Given the description of an element on the screen output the (x, y) to click on. 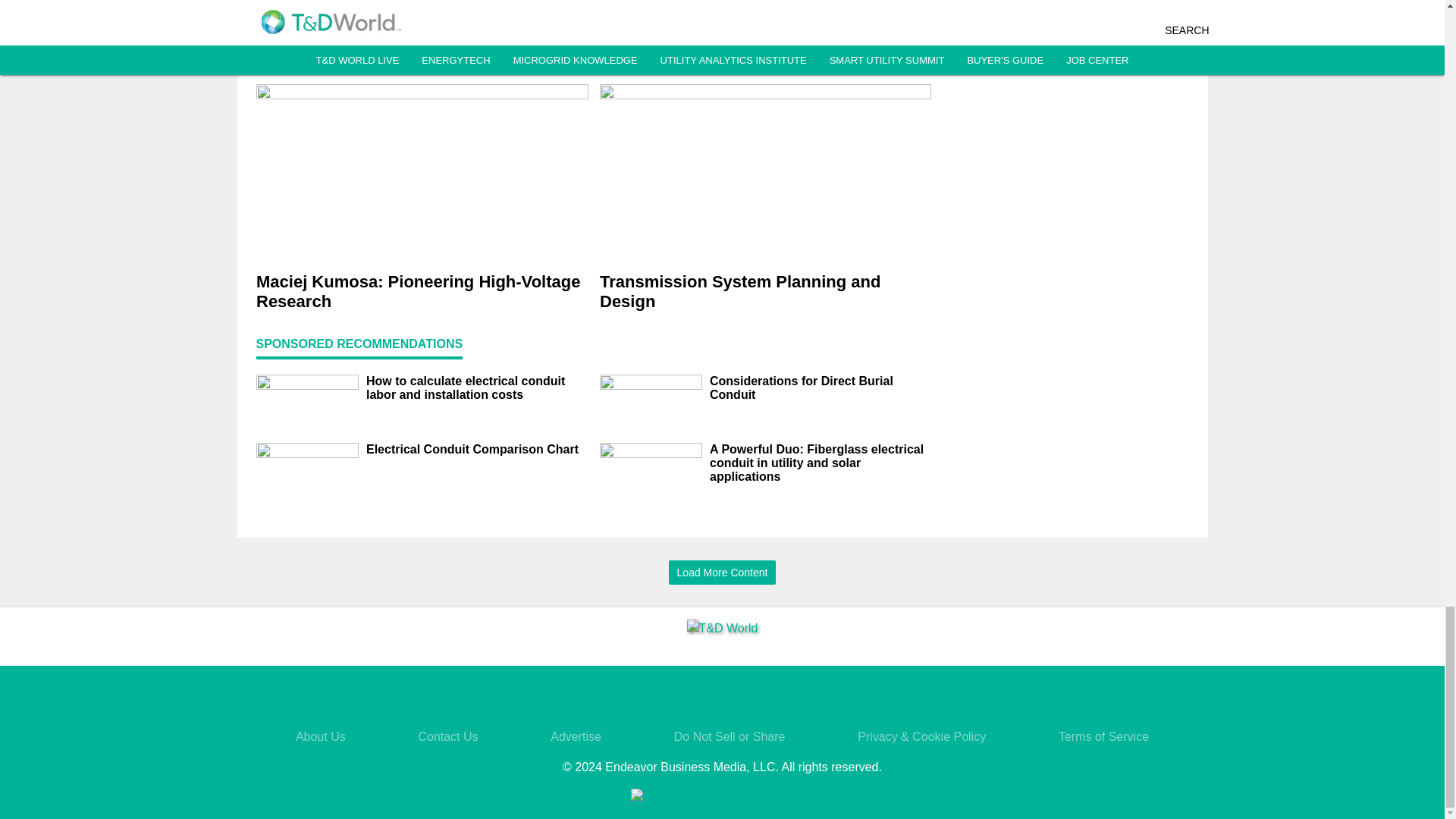
Transmission System Planning and Design (764, 291)
Electrical Conduit Comparison Chart (476, 449)
Maciej Kumosa: Pioneering High-Voltage Research (422, 291)
Considerations for Direct Burial Conduit (820, 388)
